Given the description of an element on the screen output the (x, y) to click on. 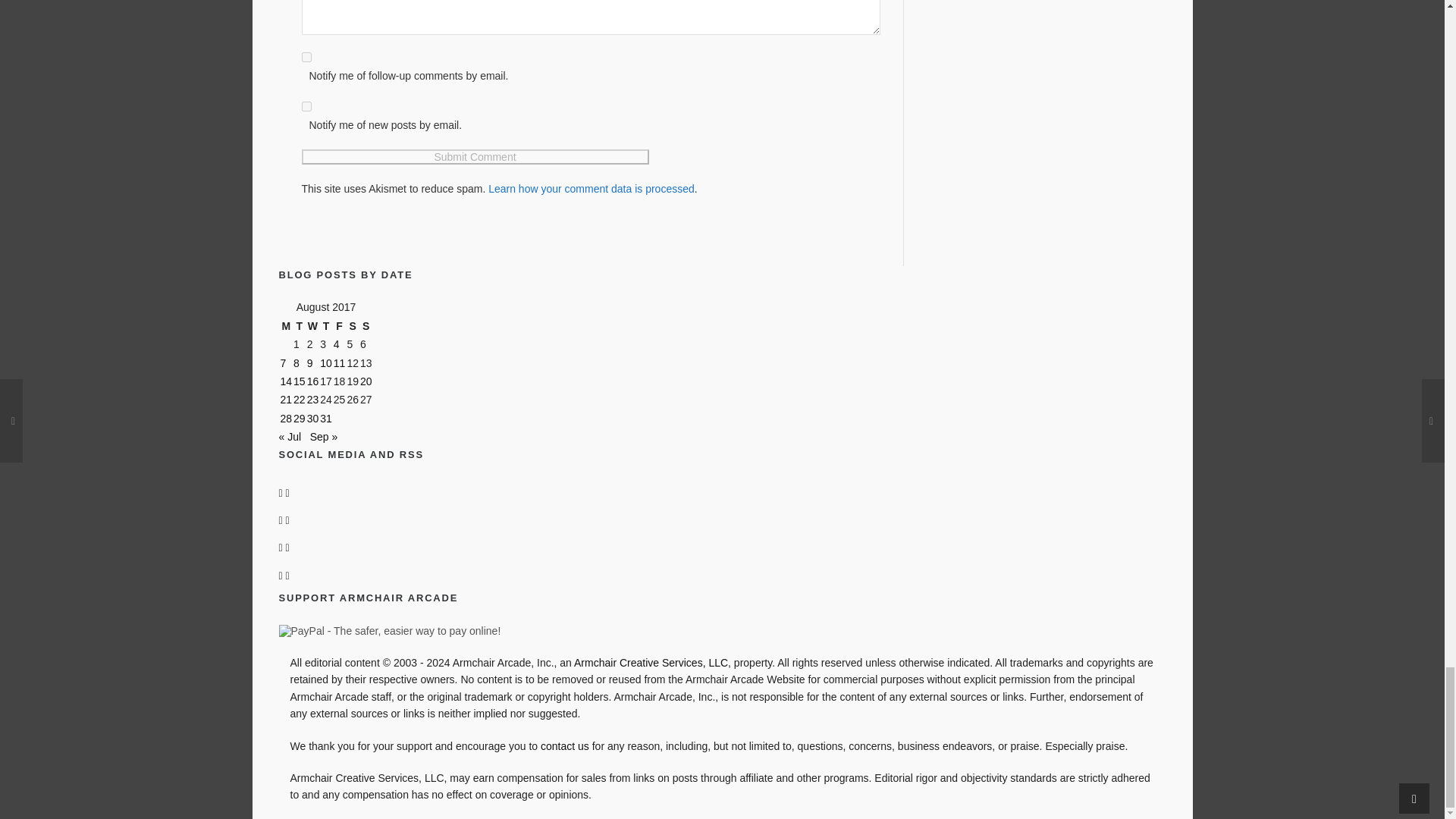
subscribe (306, 57)
Submit Comment (475, 156)
subscribe (306, 106)
